Given the description of an element on the screen output the (x, y) to click on. 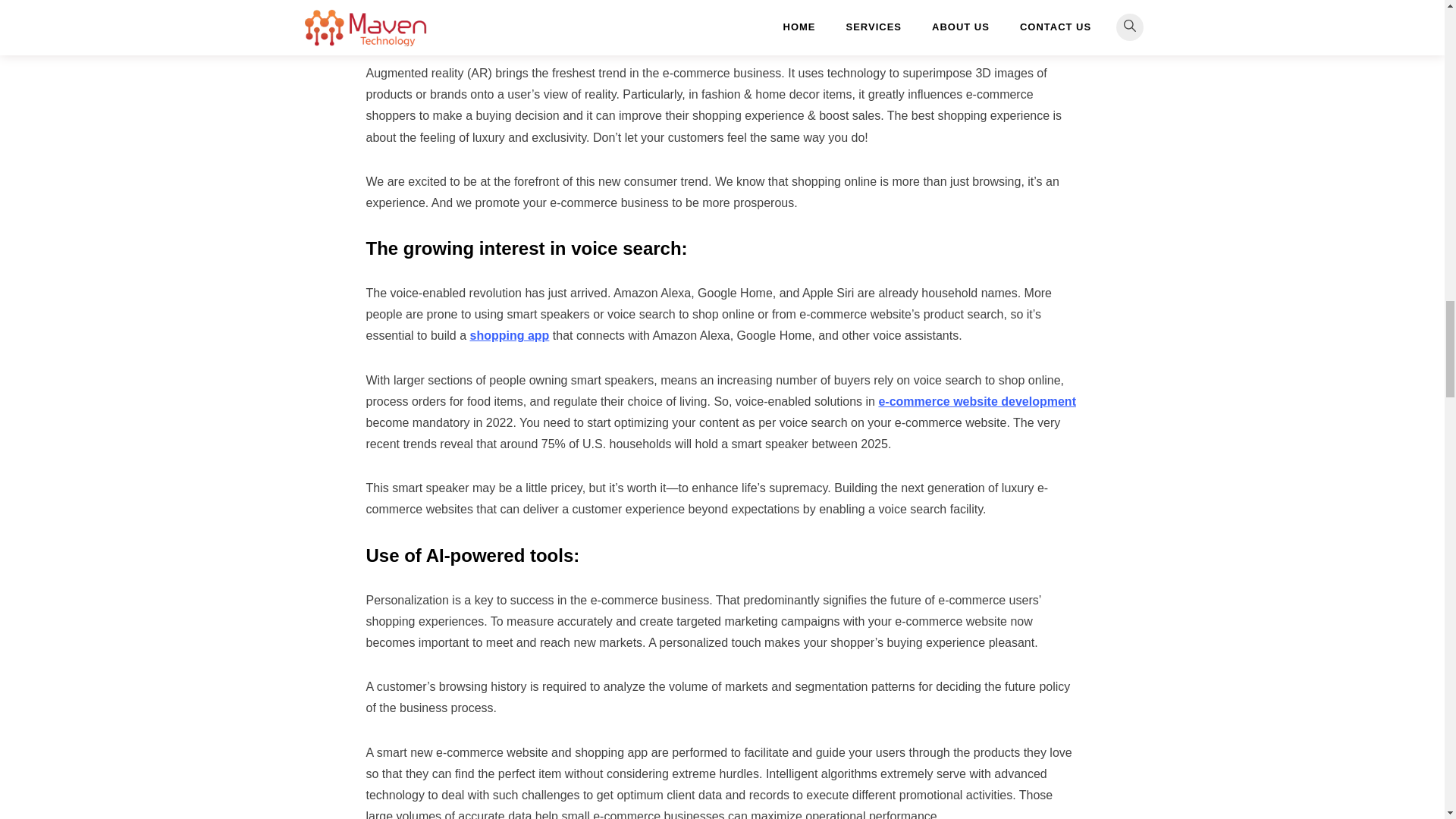
e-commerce website development (976, 400)
shopping app (508, 335)
